Given the description of an element on the screen output the (x, y) to click on. 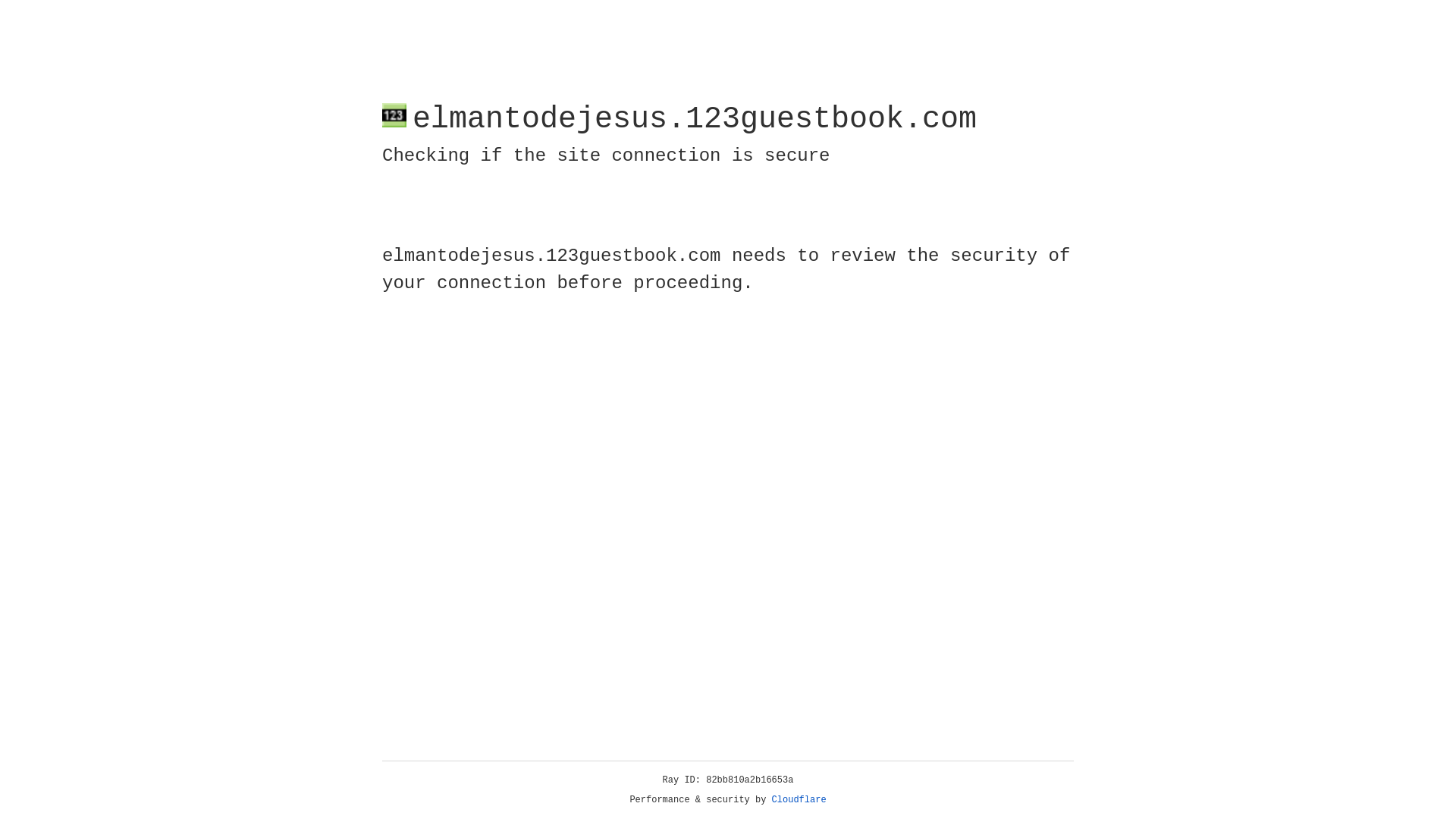
Cloudflare Element type: text (798, 799)
